Given the description of an element on the screen output the (x, y) to click on. 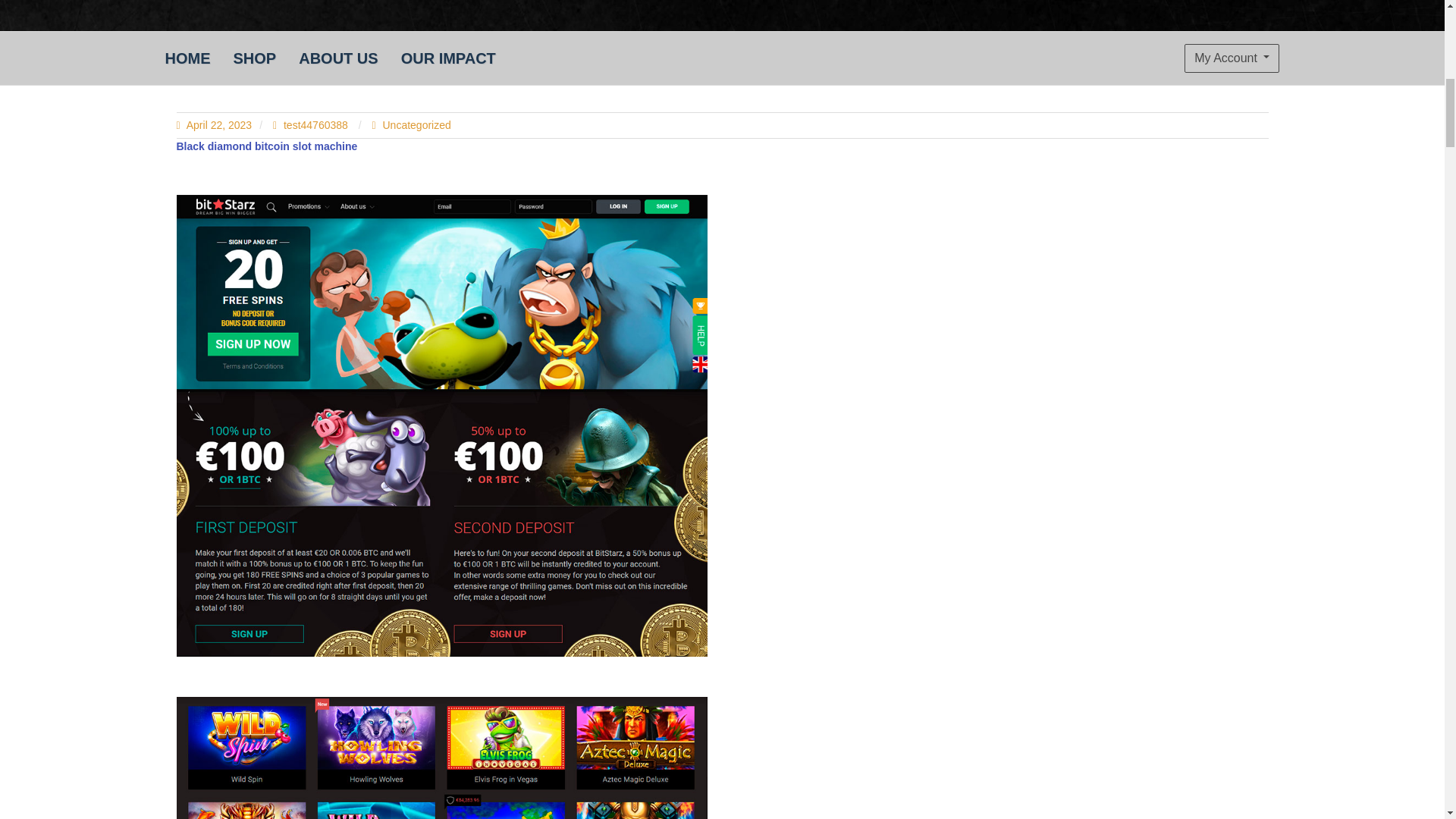
Uncategorized (415, 123)
My Account (1232, 58)
Black diamond bitcoin slot machine (441, 757)
Black diamond bitcoin slot machine (266, 145)
ABOUT US (337, 57)
April 22, 2023 (213, 123)
HOME (186, 57)
SHOP (253, 57)
test44760388 (311, 123)
